Given the description of an element on the screen output the (x, y) to click on. 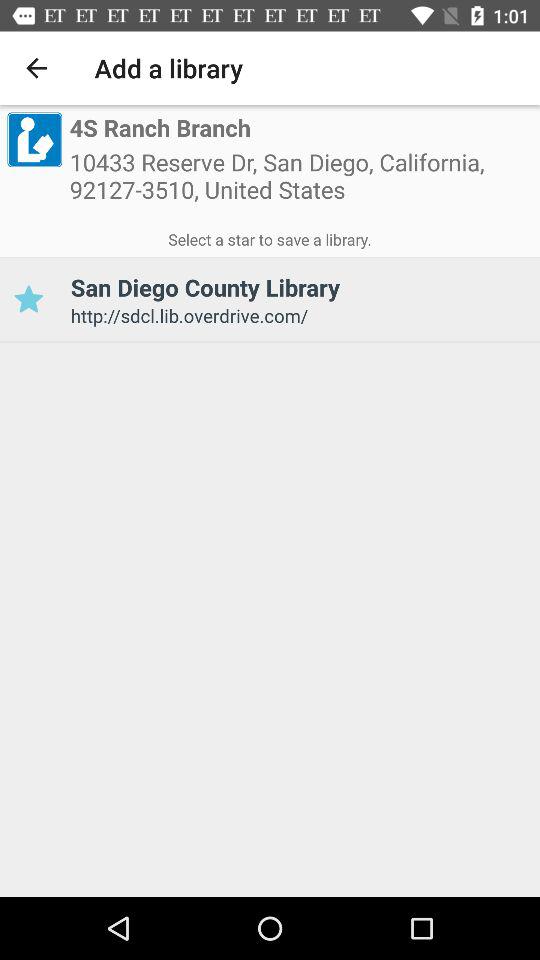
turn on item to the left of the add a library (36, 68)
